Given the description of an element on the screen output the (x, y) to click on. 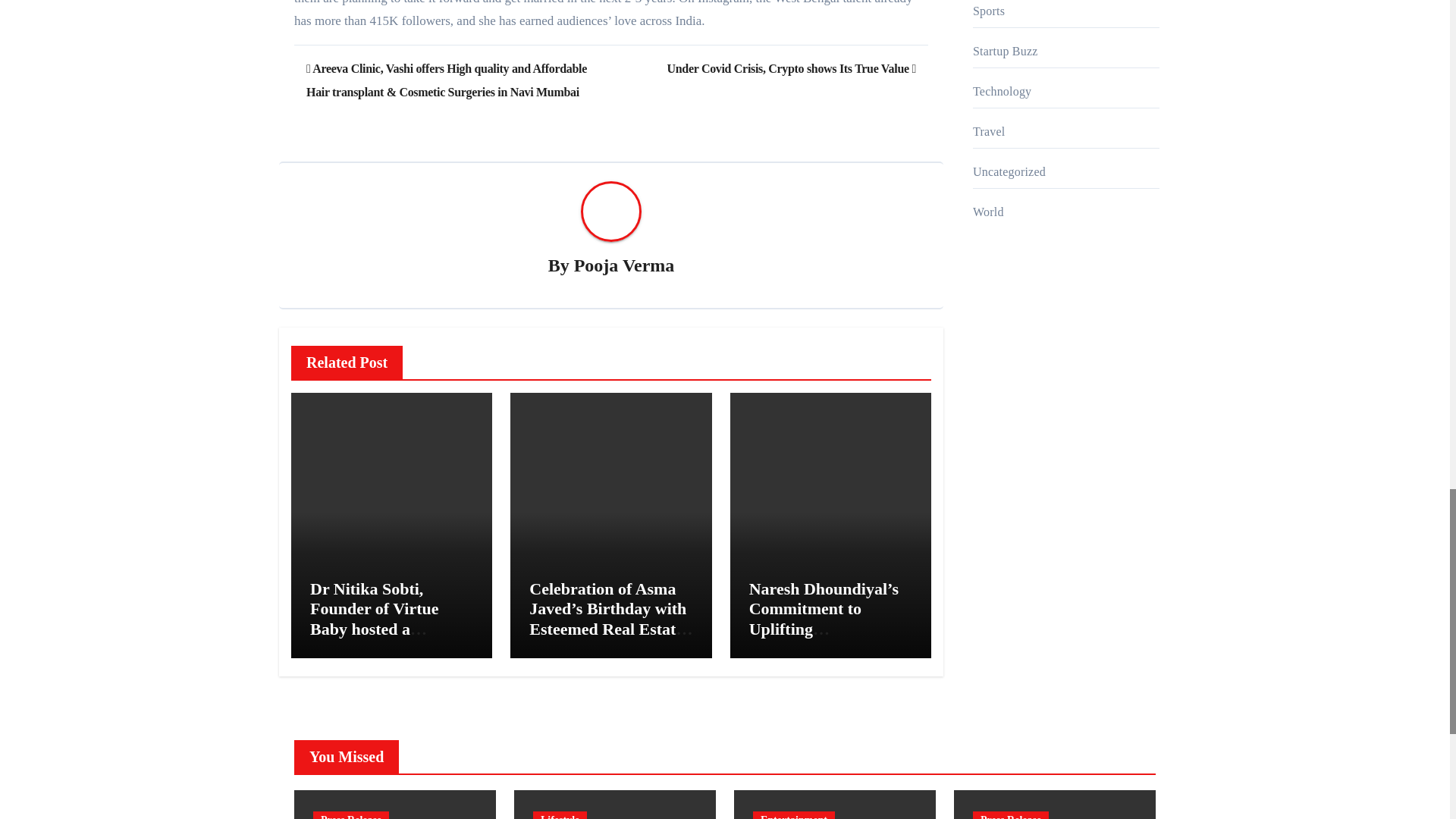
Under Covid Crisis, Crypto shows Its True Value (790, 68)
